Given the description of an element on the screen output the (x, y) to click on. 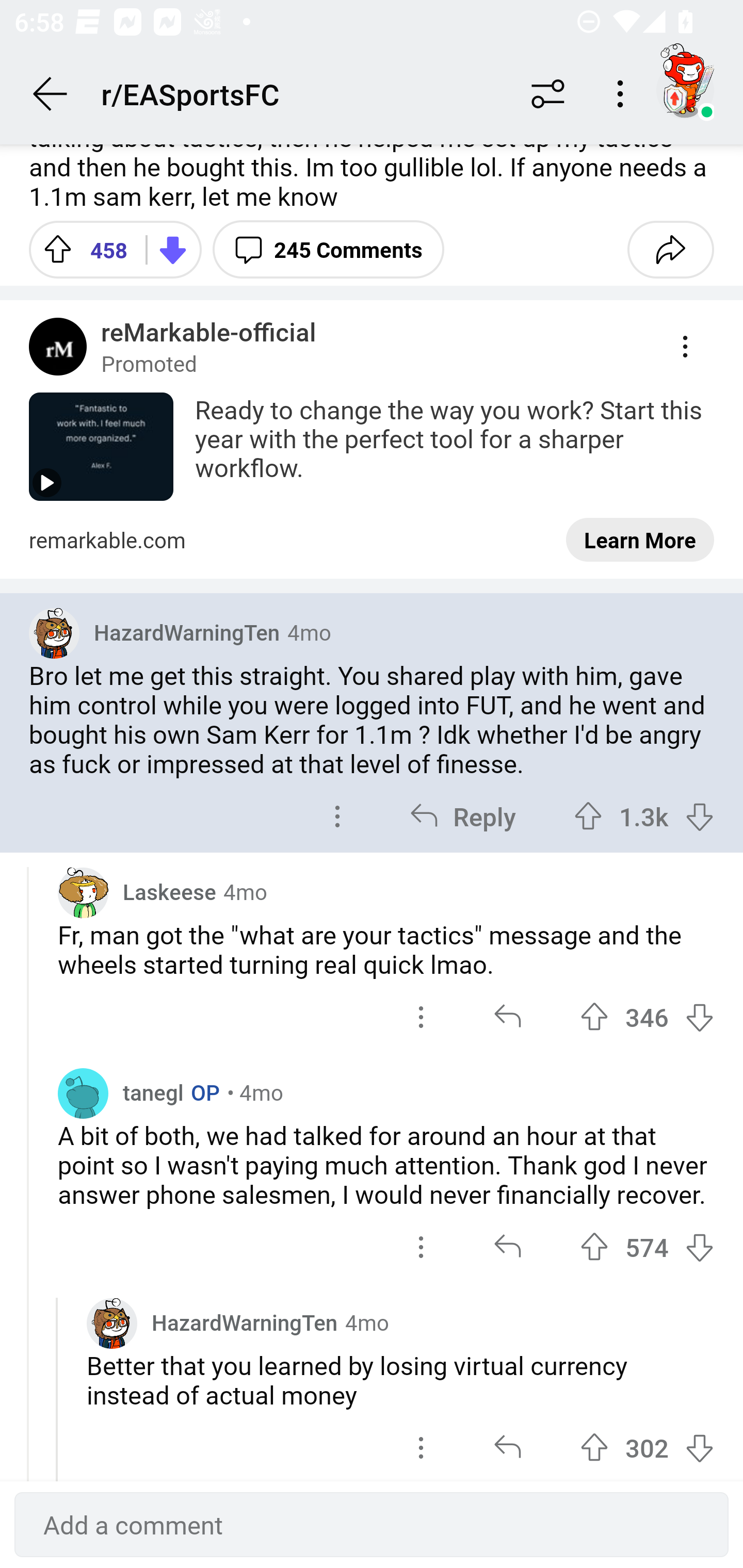
Back (50, 93)
TestAppium002 account (685, 90)
Sort comments (547, 93)
More options (623, 93)
r/EASportsFC (302, 92)
Upvote 458 (79, 249)
245 Comments (328, 249)
Share (670, 249)
Custom avatar (53, 633)
options (337, 816)
Reply (462, 816)
Upvote 1.3k 1287 votes Downvote (643, 816)
Custom avatar (82, 892)
options (420, 1017)
Upvote 346 346 votes Downvote (647, 1017)
Avatar (82, 1092)
OP (201, 1092)
options (420, 1246)
Upvote 574 574 votes Downvote (647, 1246)
Custom avatar (111, 1323)
options (420, 1446)
Upvote 302 302 votes Downvote (647, 1446)
Add a comment (371, 1524)
